Given the description of an element on the screen output the (x, y) to click on. 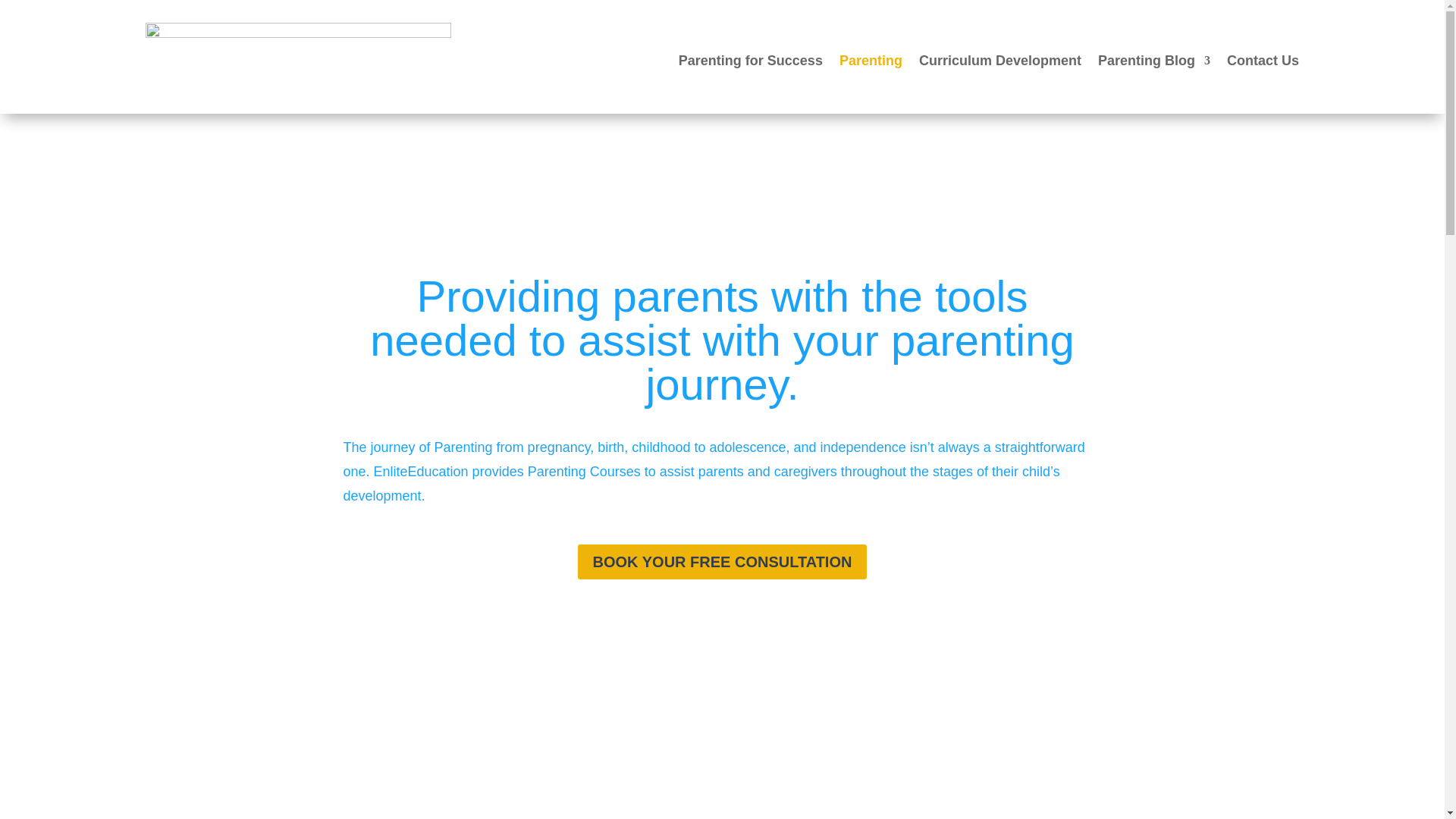
Parenting Blog (1153, 60)
BOOK YOUR FREE CONSULTATION (722, 561)
Parenting for Success (750, 60)
Curriculum Development (999, 60)
Contact Us (1262, 60)
